Given the description of an element on the screen output the (x, y) to click on. 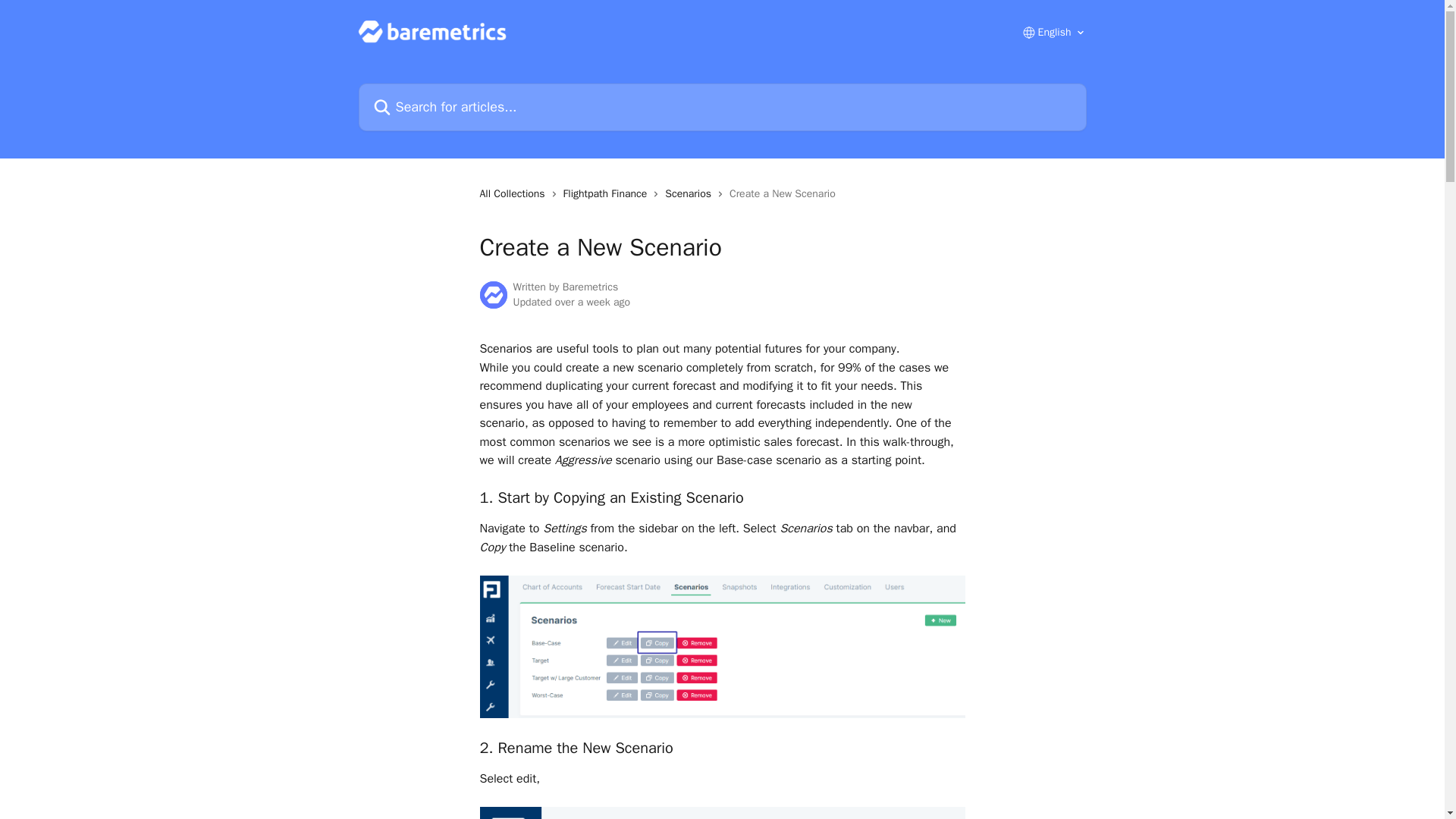
All Collections (514, 193)
Scenarios (691, 193)
Flightpath Finance (608, 193)
